Given the description of an element on the screen output the (x, y) to click on. 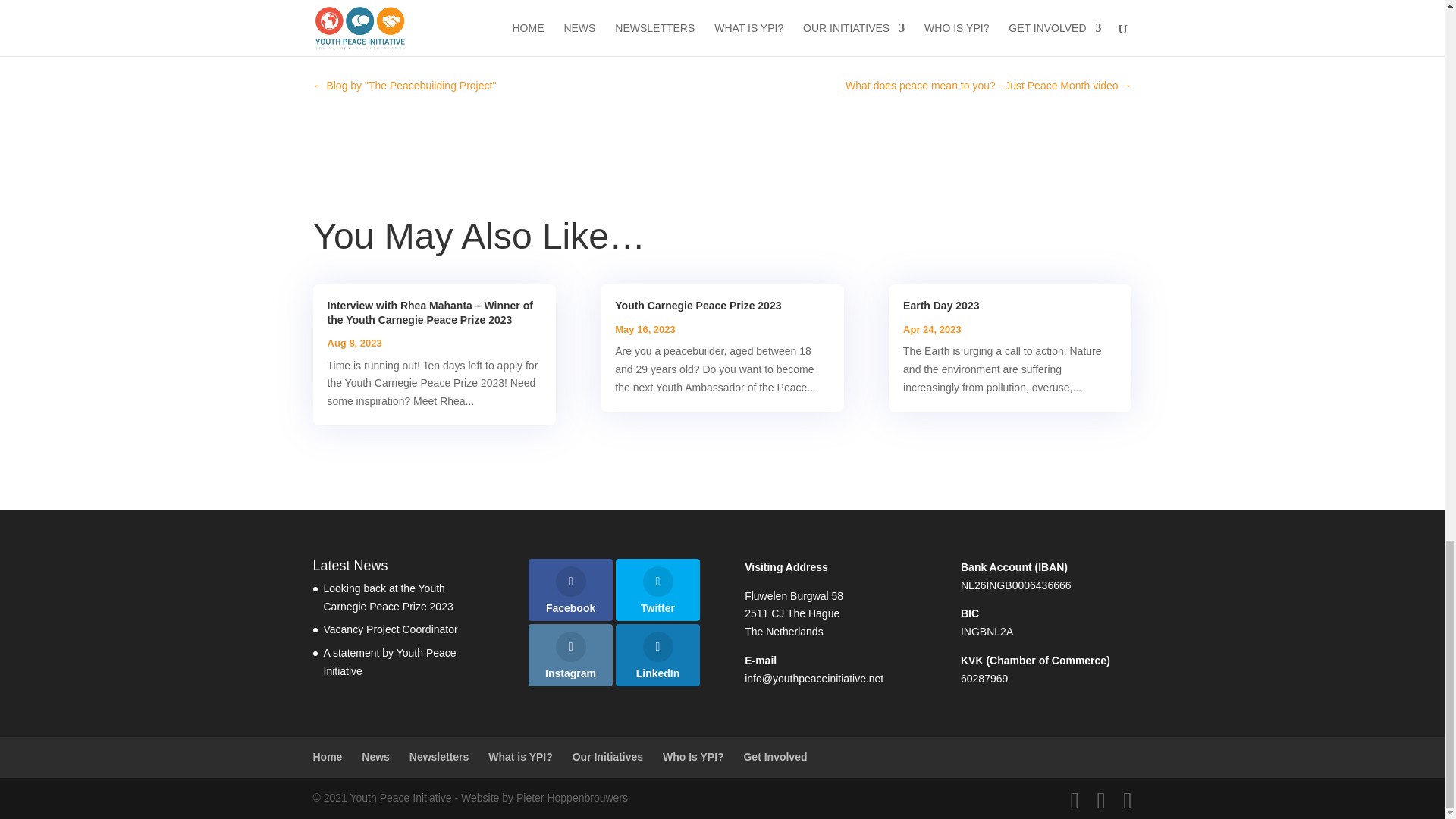
LinkedIn (656, 655)
Twitter (656, 589)
Vacancy Project Coordinator (390, 629)
Facebook (569, 589)
Youth Carnegie Peace Prize 2023 (697, 305)
Instagram (569, 655)
Looking back at the Youth Carnegie Peace Prize 2023 (387, 597)
A statement by Youth Peace Initiative (389, 662)
Earth Day 2023 (940, 305)
